Given the description of an element on the screen output the (x, y) to click on. 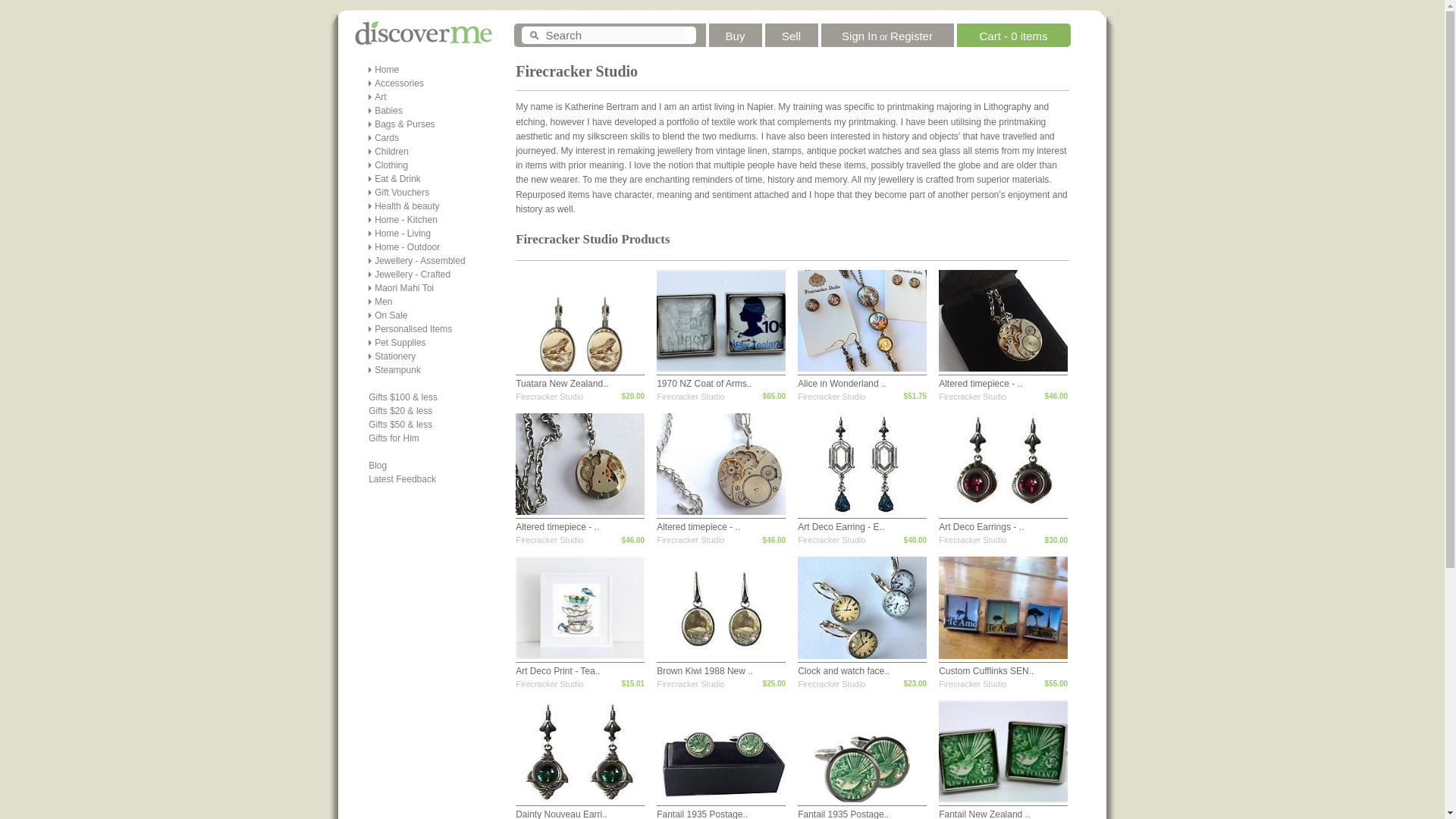
Gift Vouchers (401, 192)
Sell (790, 31)
Cart - 0 items (1012, 31)
Babies (388, 110)
Art Deco Earrings - Petite Settings with Vintage Glass (981, 526)
Cards (386, 137)
Sign In (859, 31)
1970 NZ Coat of Arms  original Postage Stamp Cufflinks (703, 383)
Accessories (398, 82)
Fantail 1935 Postage Stamp Cufflinks Round (702, 814)
Fantail 1935 Postage Stamp Cufflinks Round (842, 814)
